Given the description of an element on the screen output the (x, y) to click on. 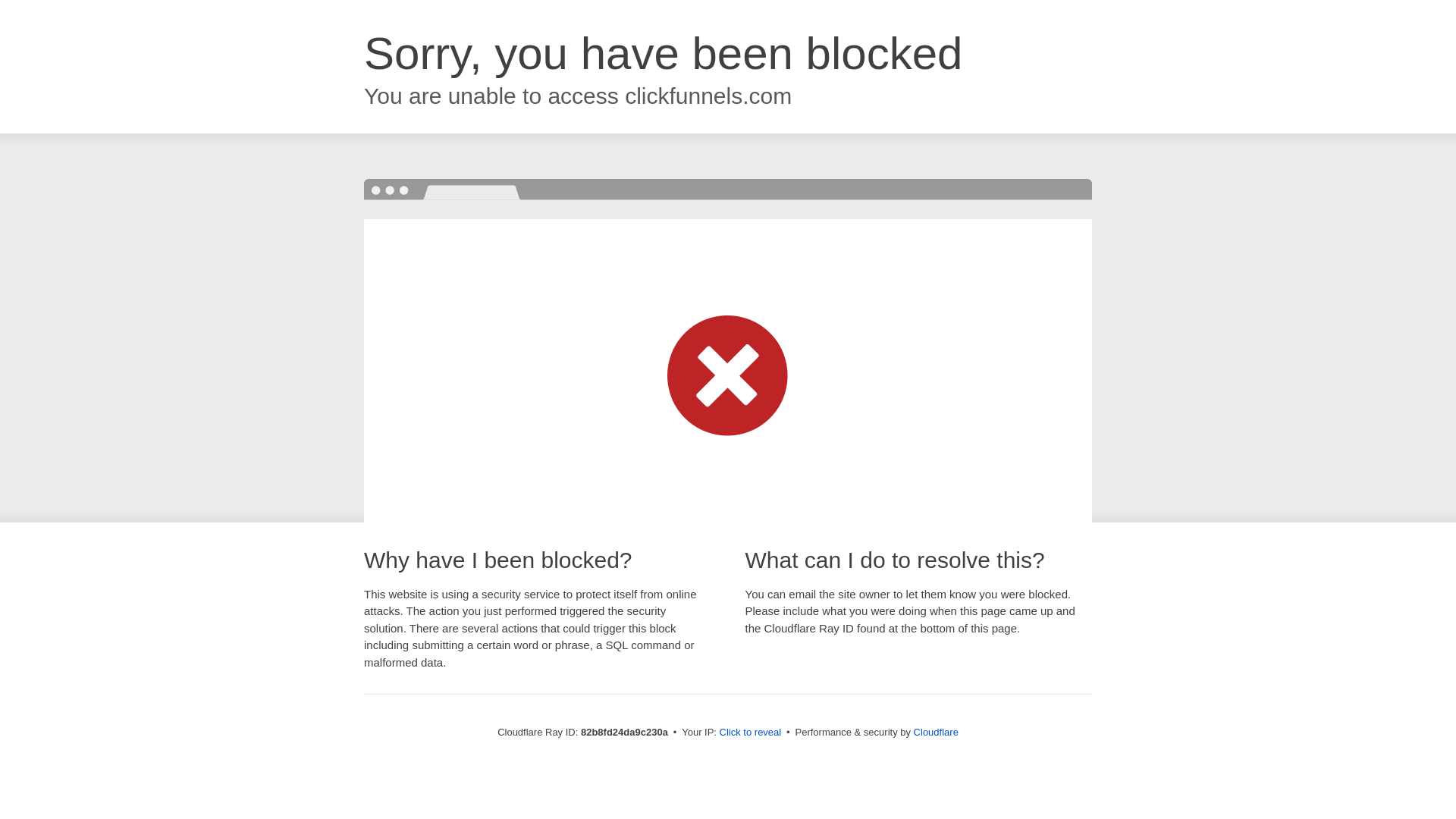
Cloudflare Element type: text (935, 731)
Click to reveal Element type: text (750, 732)
